Given the description of an element on the screen output the (x, y) to click on. 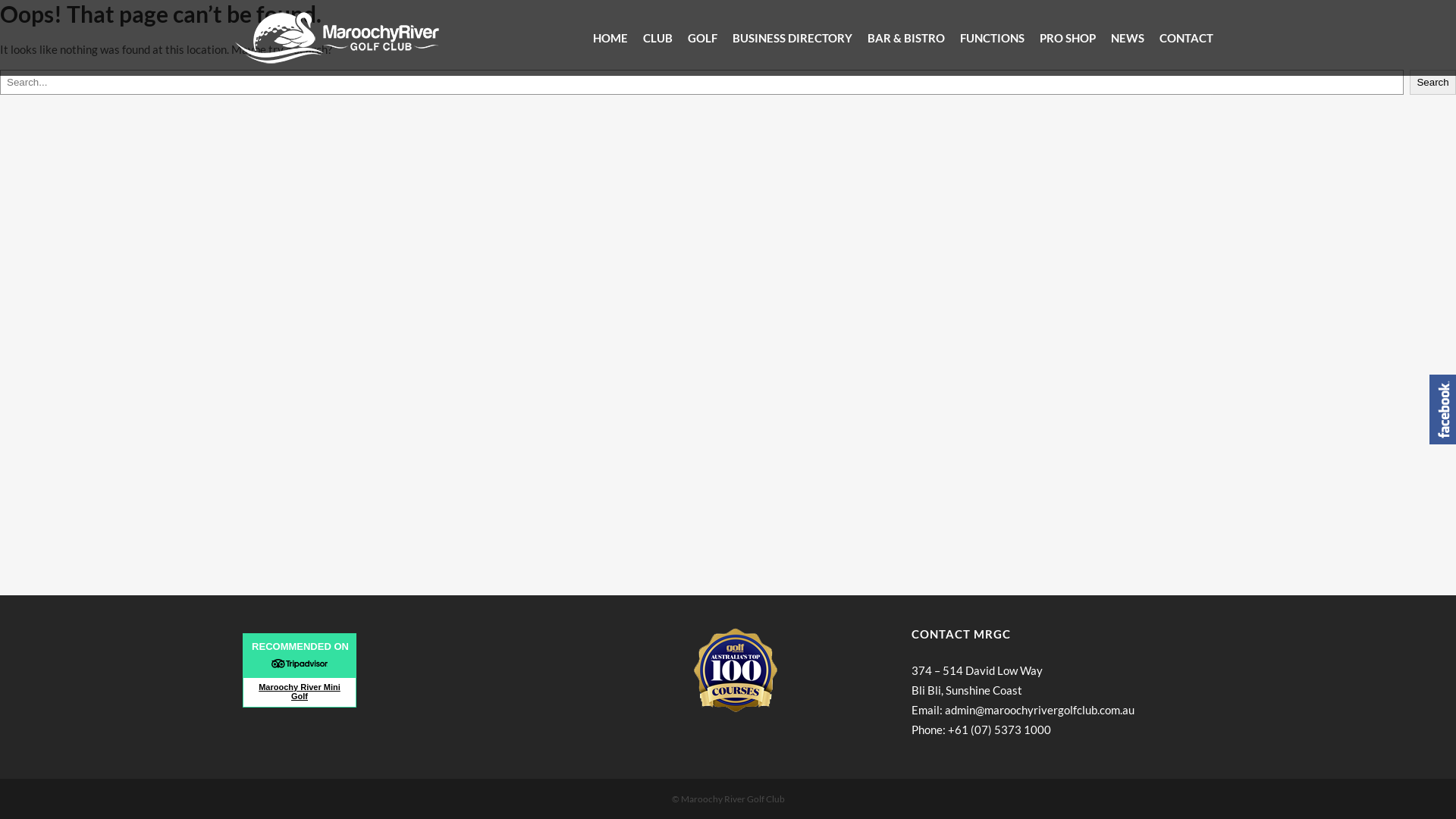
BAR & BISTRO Element type: text (905, 37)
NEWS Element type: text (1127, 37)
PRO SHOP Element type: text (1067, 37)
BUSINESS DIRECTORY Element type: text (791, 37)
HOME Element type: text (610, 37)
GOLF Element type: text (702, 37)
CONTACT Element type: text (1185, 37)
CLUB Element type: text (657, 37)
FUNCTIONS Element type: text (992, 37)
